Given the description of an element on the screen output the (x, y) to click on. 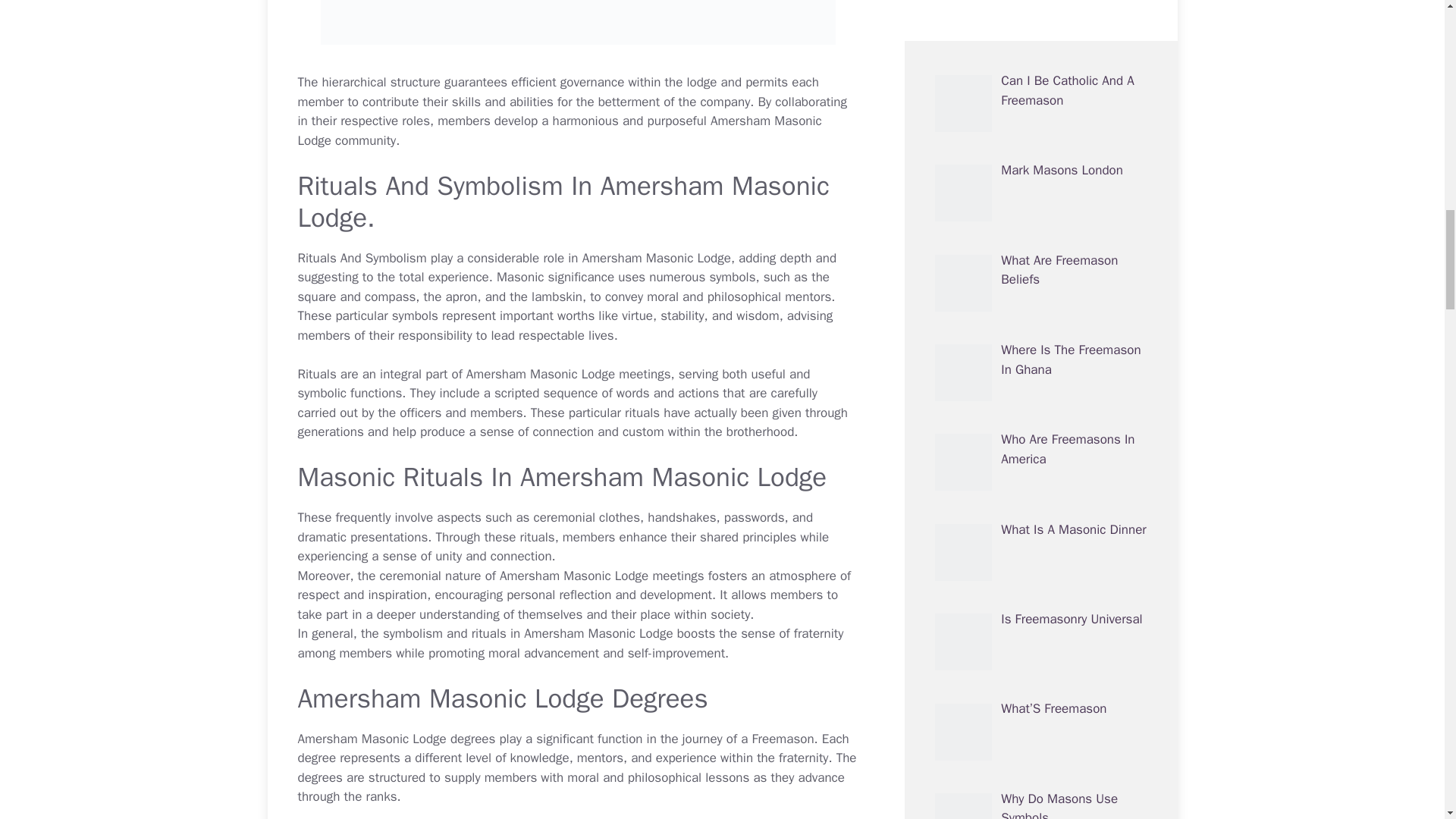
What Is A Knight Templar Freemason (1037, 490)
Do Freemasons Have Tattoos (1017, 516)
Can A Freemason Go To Any Lodge (1032, 465)
What Is Freemasons Victoria (1014, 413)
What Is A Masonic Club (1000, 439)
Mark Masons Wales (1058, 130)
What Is A Masonic Hall (1066, 220)
Knights Templar Masonic Ritual (1071, 50)
